Given the description of an element on the screen output the (x, y) to click on. 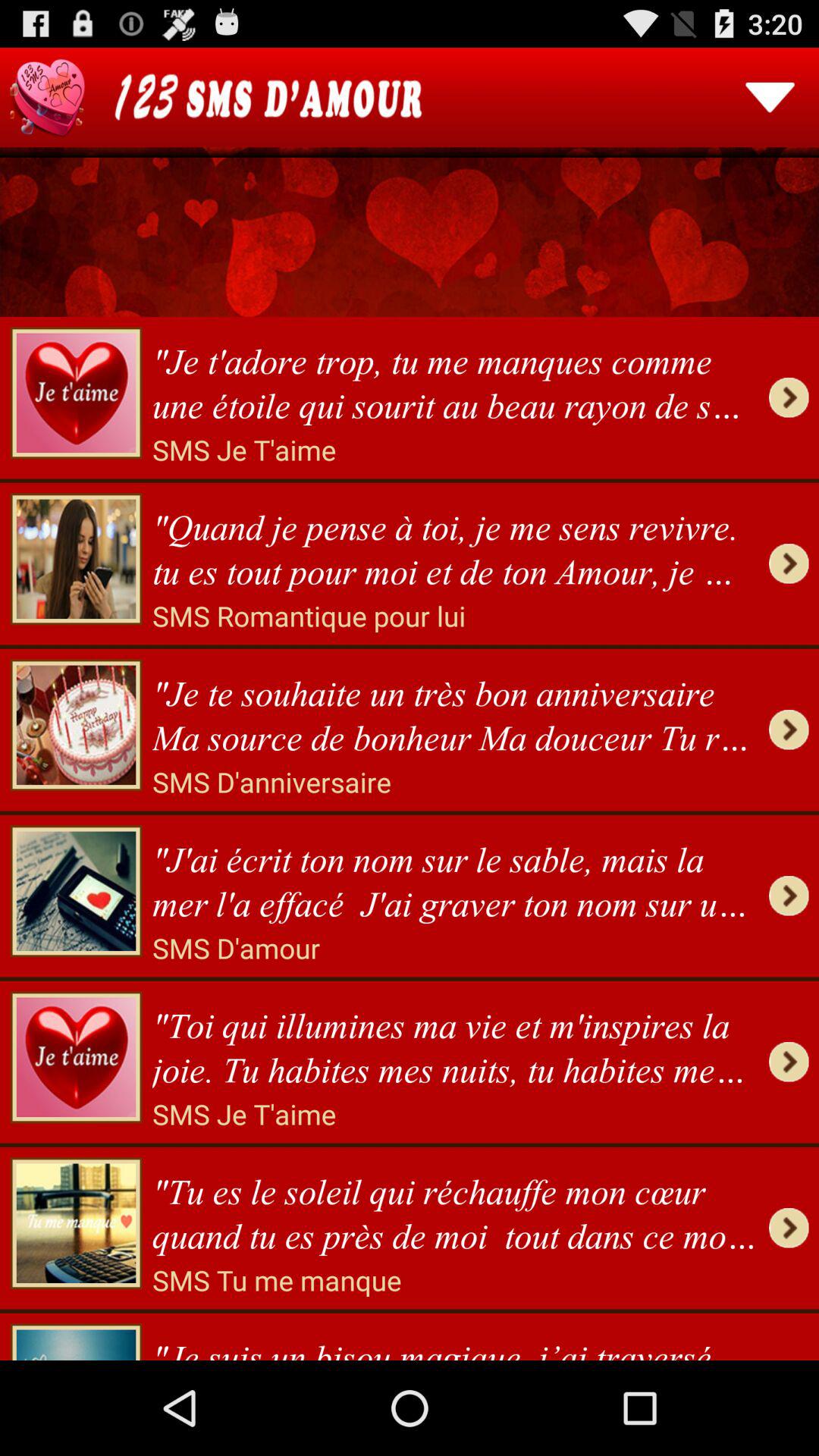
tap icon below quand je pense (308, 615)
